Given the description of an element on the screen output the (x, y) to click on. 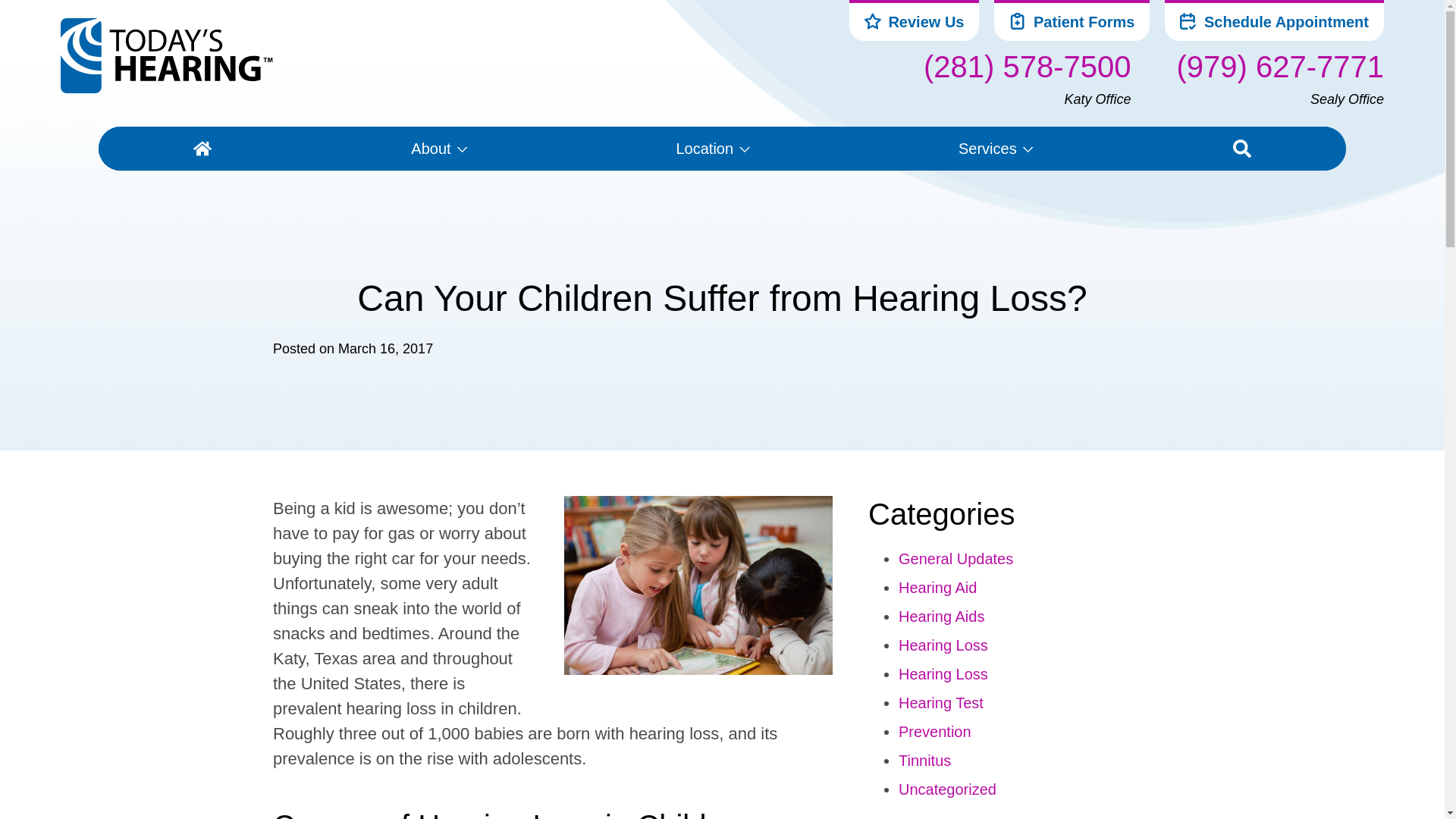
Home (203, 148)
Schedule Appointment (1273, 21)
Review Us (913, 21)
Patient Forms (1071, 21)
